Given the description of an element on the screen output the (x, y) to click on. 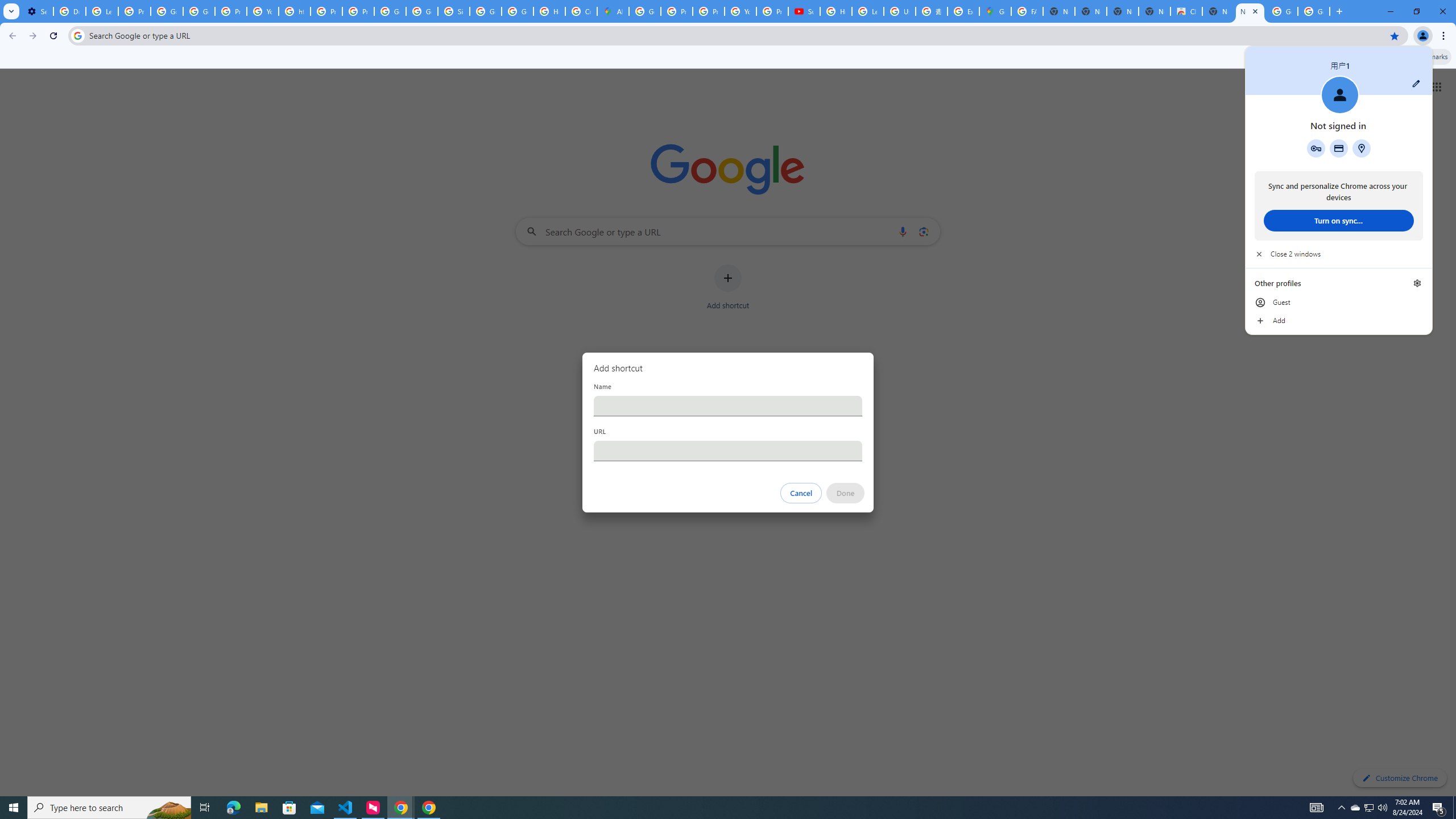
Privacy Help Center - Policies Help (326, 11)
Explore new street-level details - Google Maps Help (963, 11)
YouTube (262, 11)
User Promoted Notification Area (1368, 807)
Google Images (1281, 11)
Start (13, 807)
Google Chrome - 2 running windows (400, 807)
Show desktop (1454, 807)
Microsoft Edge (233, 807)
